Given the description of an element on the screen output the (x, y) to click on. 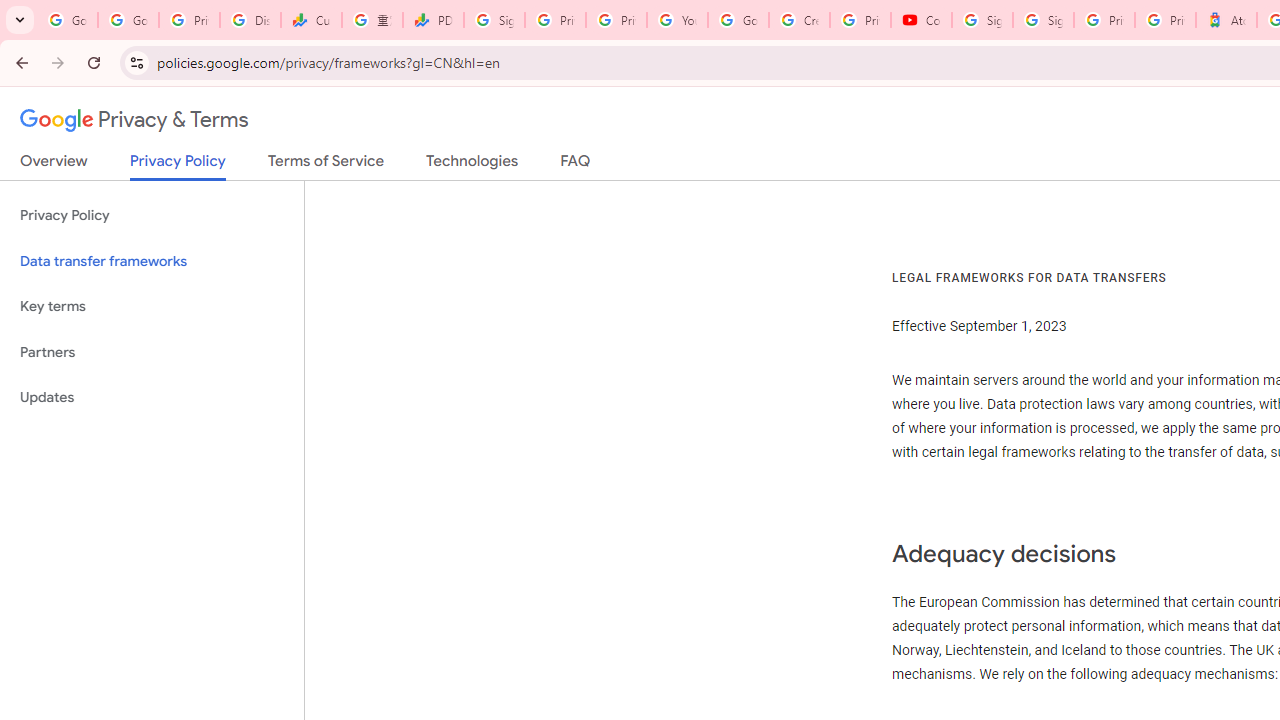
Sign in - Google Accounts (1042, 20)
Google Account Help (738, 20)
Atour Hotel - Google hotels (1225, 20)
Content Creator Programs & Opportunities - YouTube Creators (921, 20)
